Given the description of an element on the screen output the (x, y) to click on. 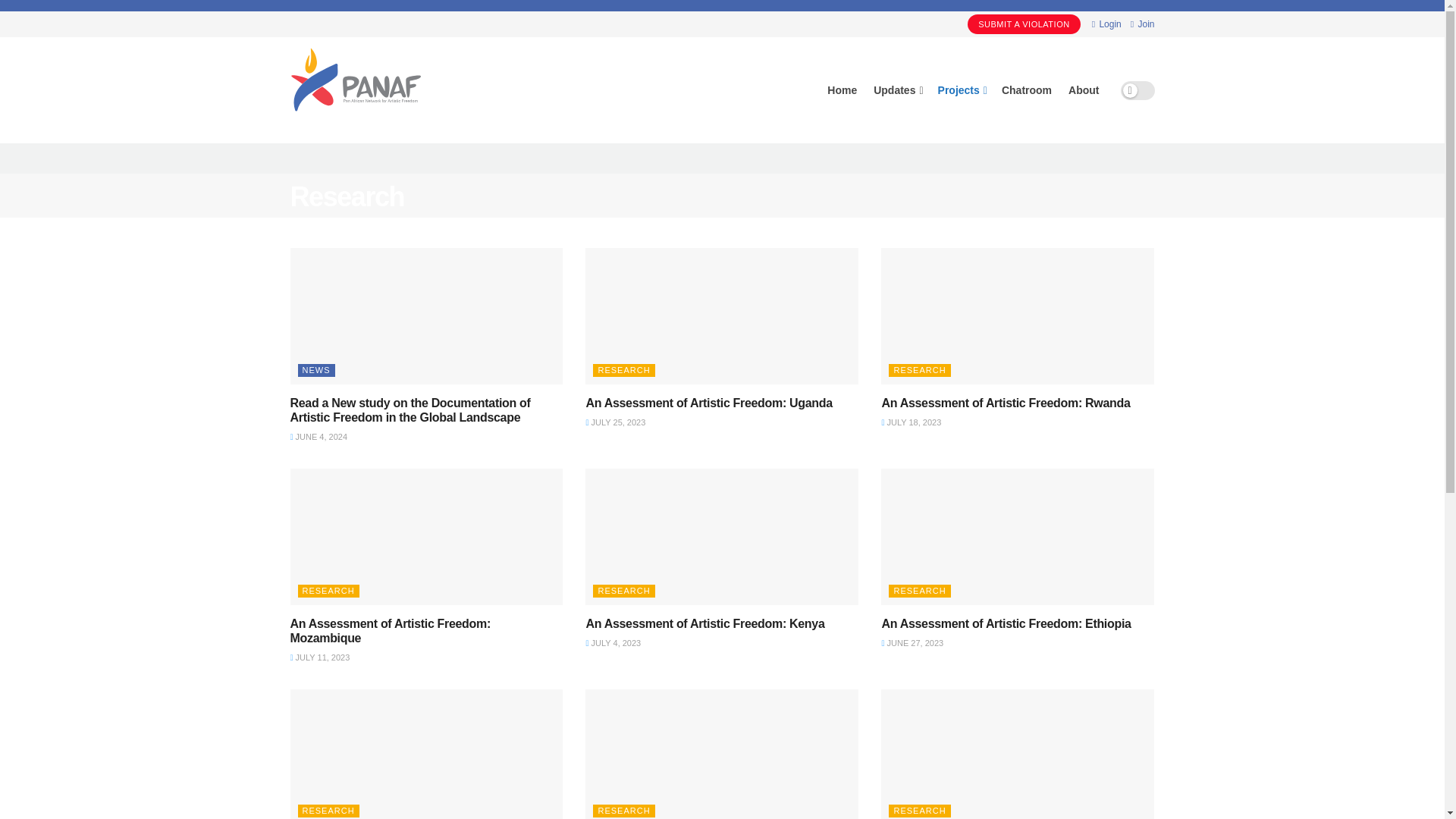
An Assessment of Artistic Freedom: Rwanda (1004, 402)
Join (1142, 23)
NEWS (315, 369)
Updates (896, 89)
RESEARCH (622, 369)
RESEARCH (919, 369)
Projects (961, 89)
JUNE 4, 2024 (318, 436)
Login (1106, 23)
JULY 25, 2023 (615, 421)
An Assessment of Artistic Freedom: Uganda (708, 402)
SUBMIT A VIOLATION (1024, 24)
Chatroom (1026, 89)
